Given the description of an element on the screen output the (x, y) to click on. 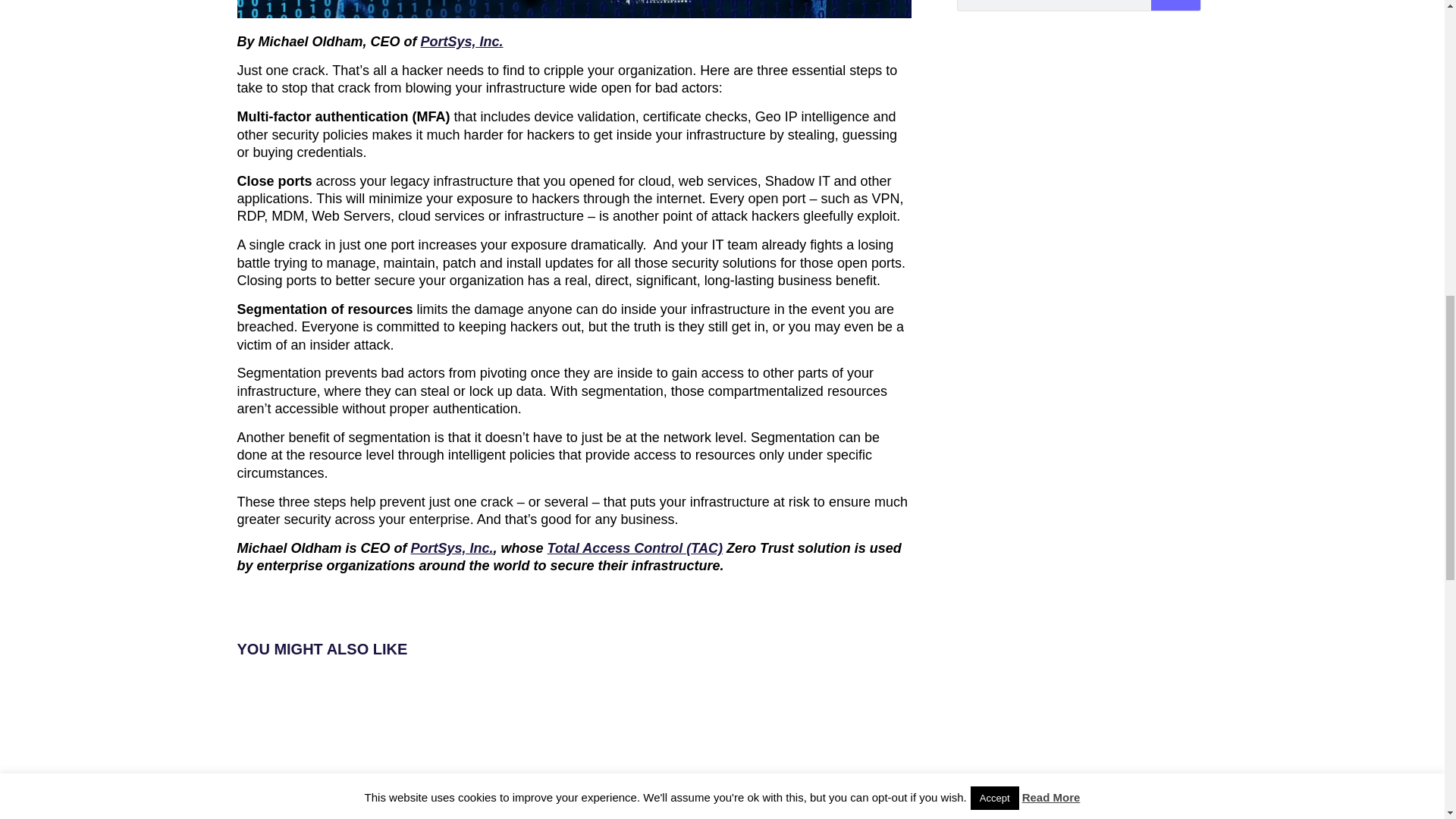
PortSys, Inc. (461, 41)
PortSys, Inc. (451, 548)
